Given the description of an element on the screen output the (x, y) to click on. 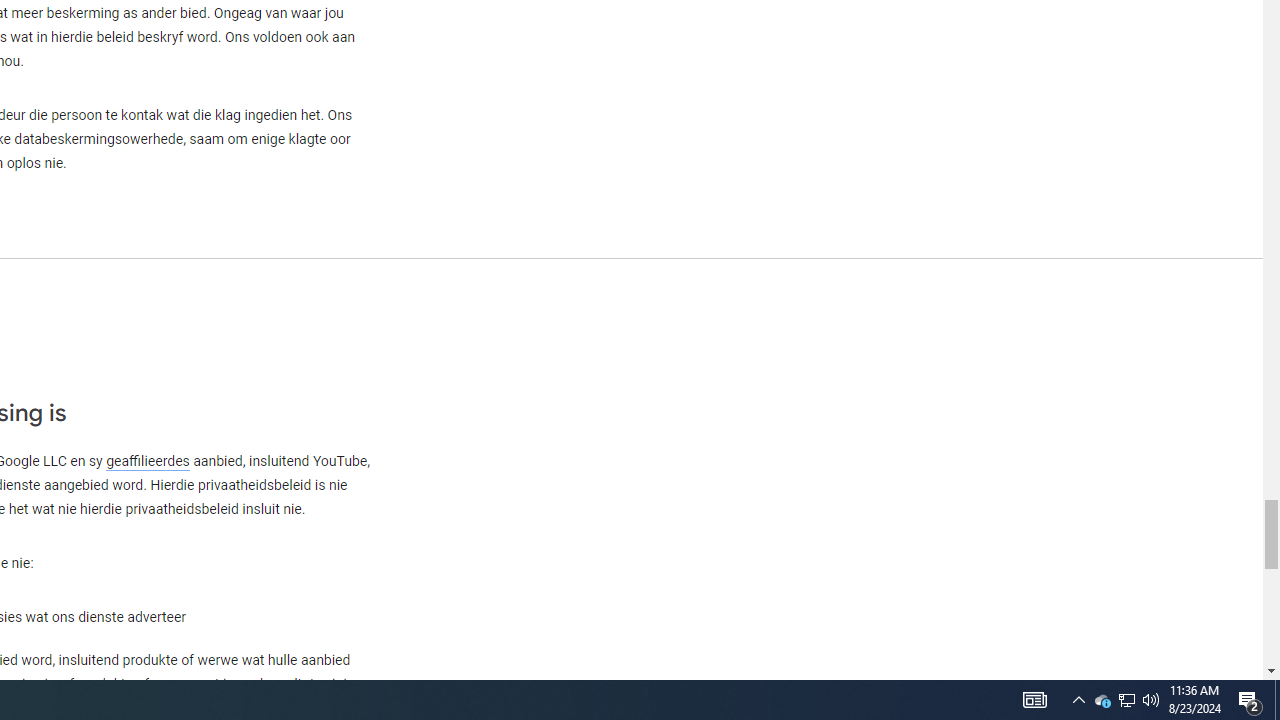
geaffilieerdes (147, 461)
